Given the description of an element on the screen output the (x, y) to click on. 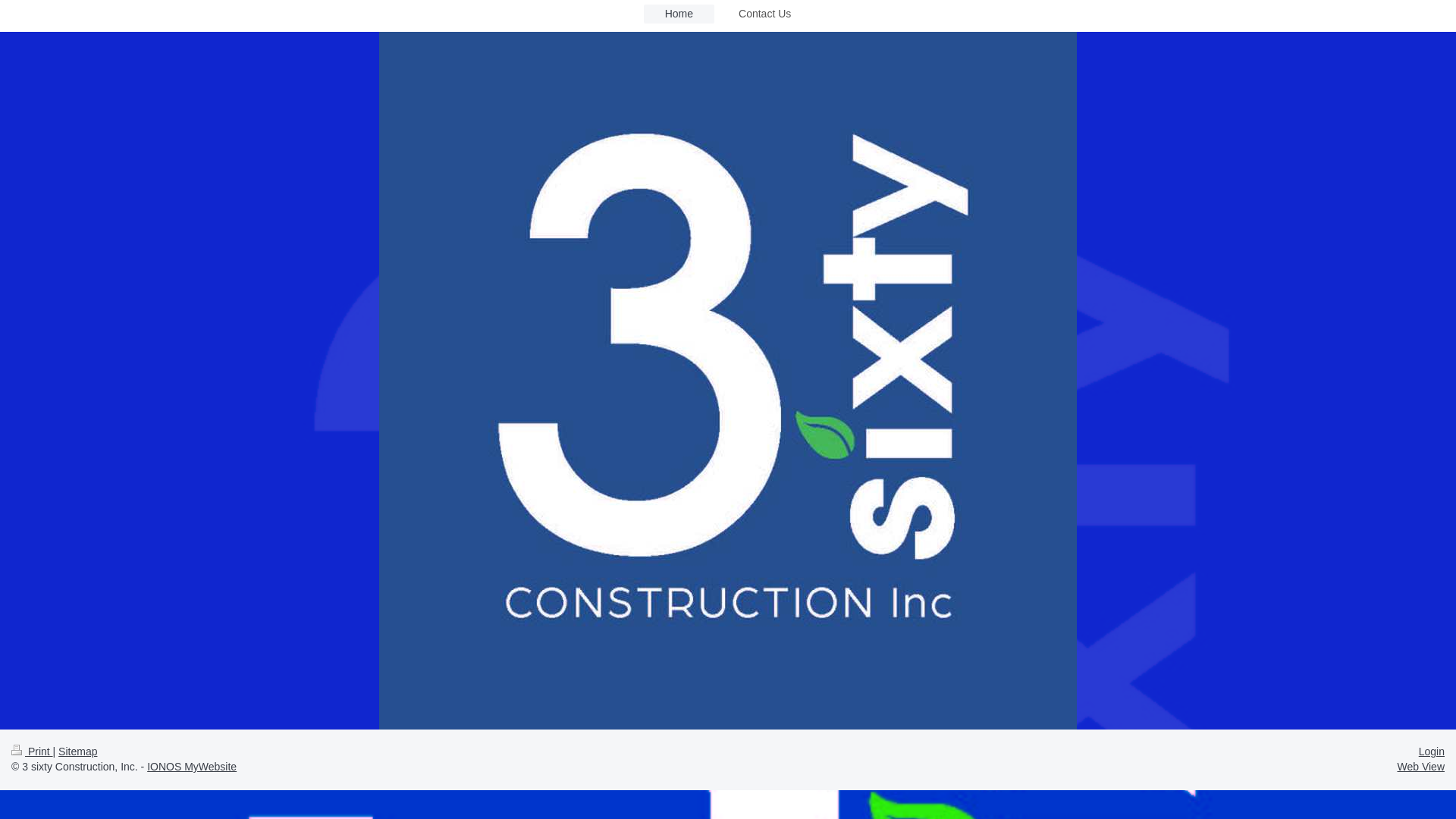
Contact Us Element type: text (764, 13)
Home Element type: text (678, 13)
IONOS MyWebsite Element type: text (191, 766)
Sitemap Element type: text (77, 751)
Print Element type: text (32, 751)
Web View Element type: text (1420, 766)
Login Element type: text (1431, 751)
